Given the description of an element on the screen output the (x, y) to click on. 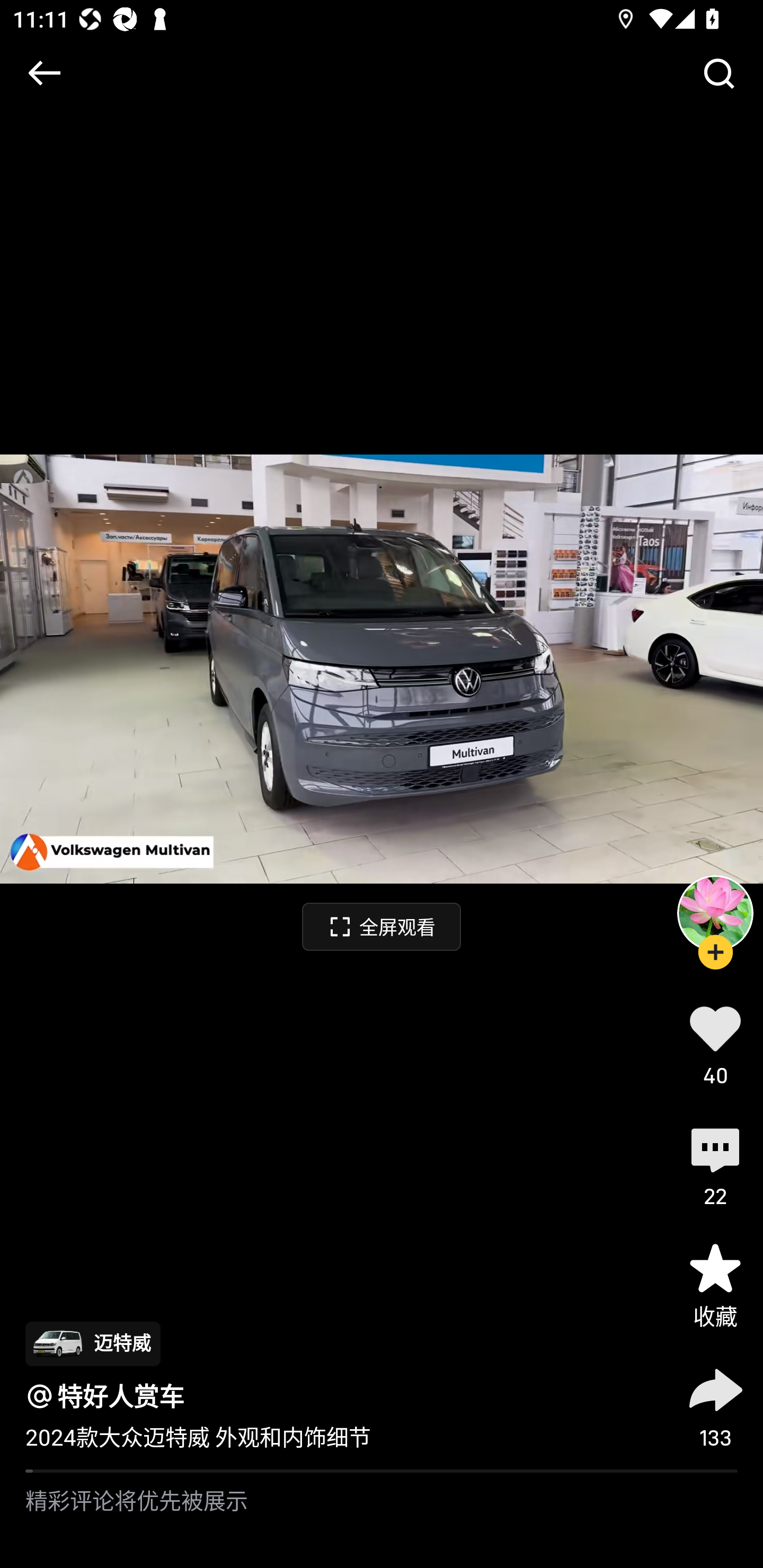
 (44, 72)
 (718, 72)
 全屏观看 (381, 926)
22 (715, 1164)
收藏 (715, 1284)
迈特威 (92, 1343)
133 (715, 1405)
特好人赏车 (120, 1396)
2024款大众迈特威 外观和内饰细节 (197, 1437)
精彩评论将优先被展示 (381, 1520)
